Given the description of an element on the screen output the (x, y) to click on. 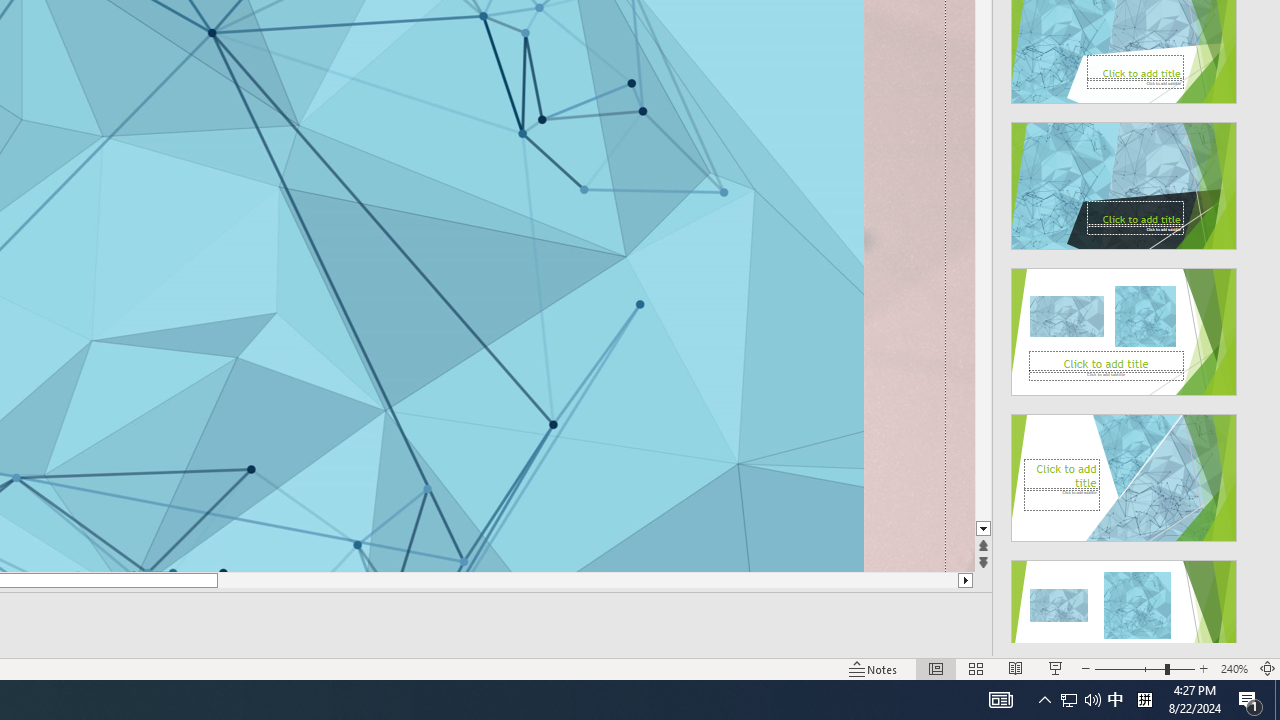
Design Idea (1124, 618)
Zoom 240% (1234, 668)
